Given the description of an element on the screen output the (x, y) to click on. 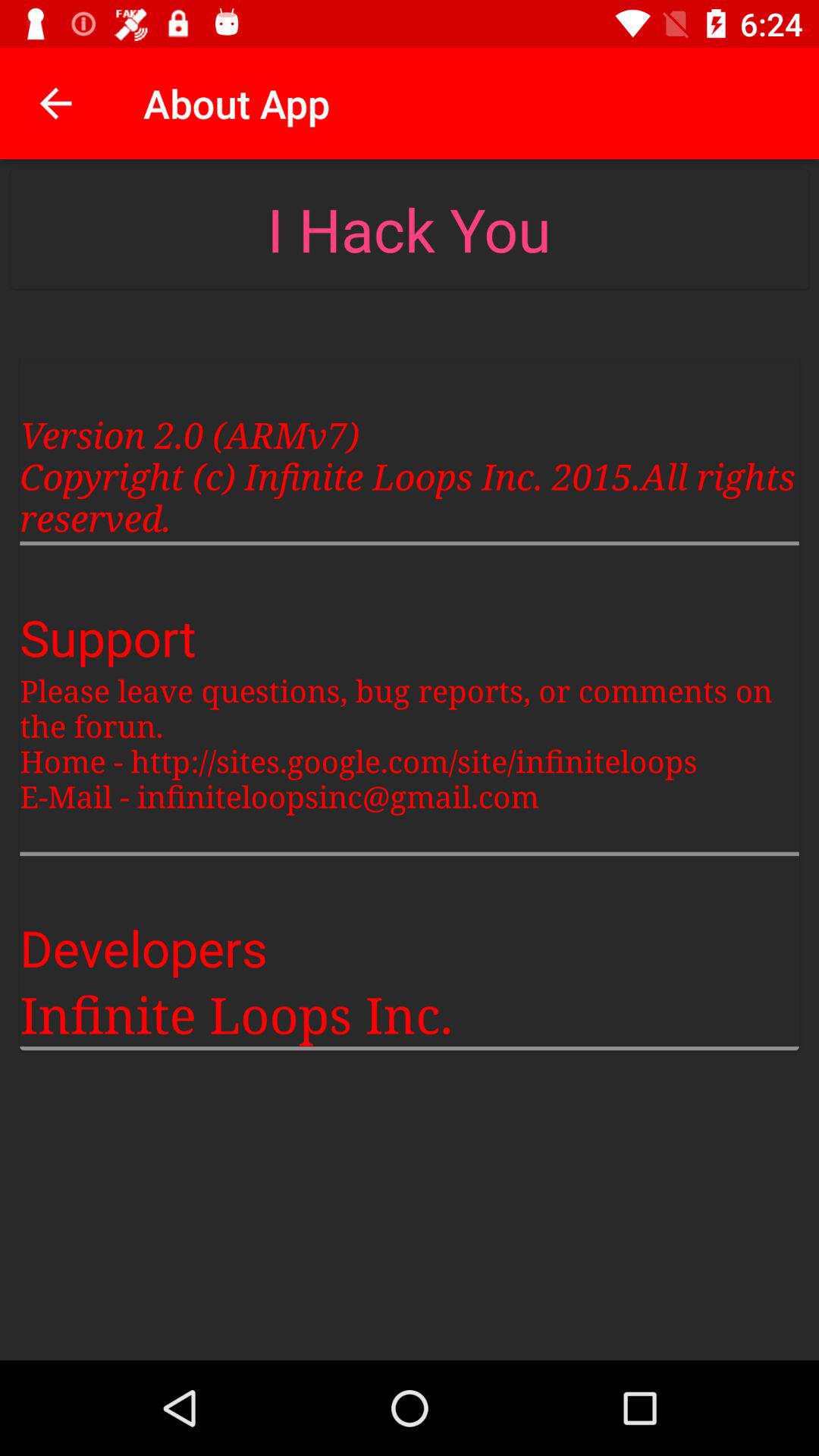
swipe until the i hack you item (409, 229)
